Given the description of an element on the screen output the (x, y) to click on. 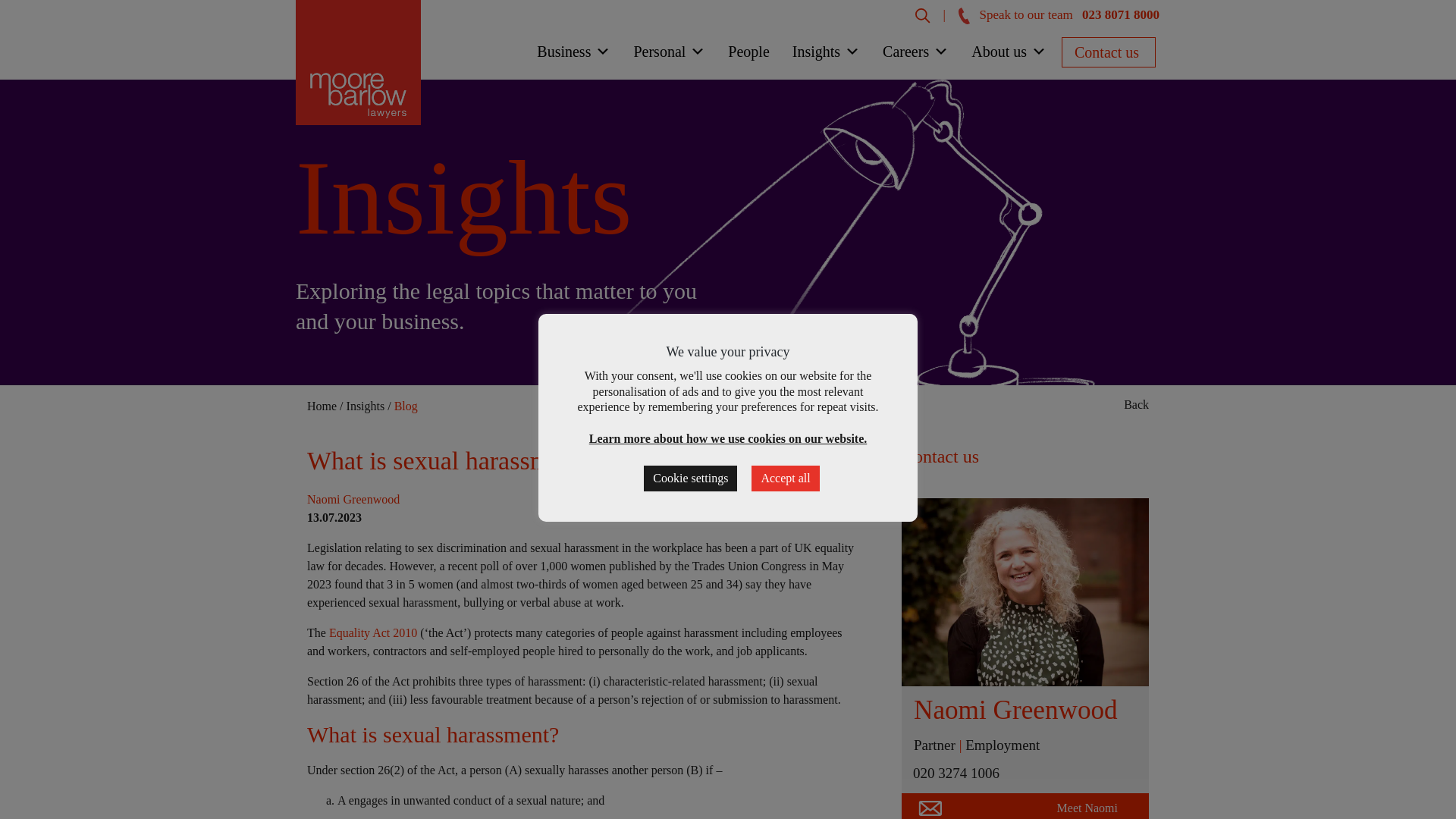
Speak to our team 023 8071 8000 (1058, 14)
Business (573, 55)
Search Moore Barlow (922, 14)
View Naomi Greenwood's profile (1016, 709)
View Naomi Greenwood's profile (1024, 591)
